Given the description of an element on the screen output the (x, y) to click on. 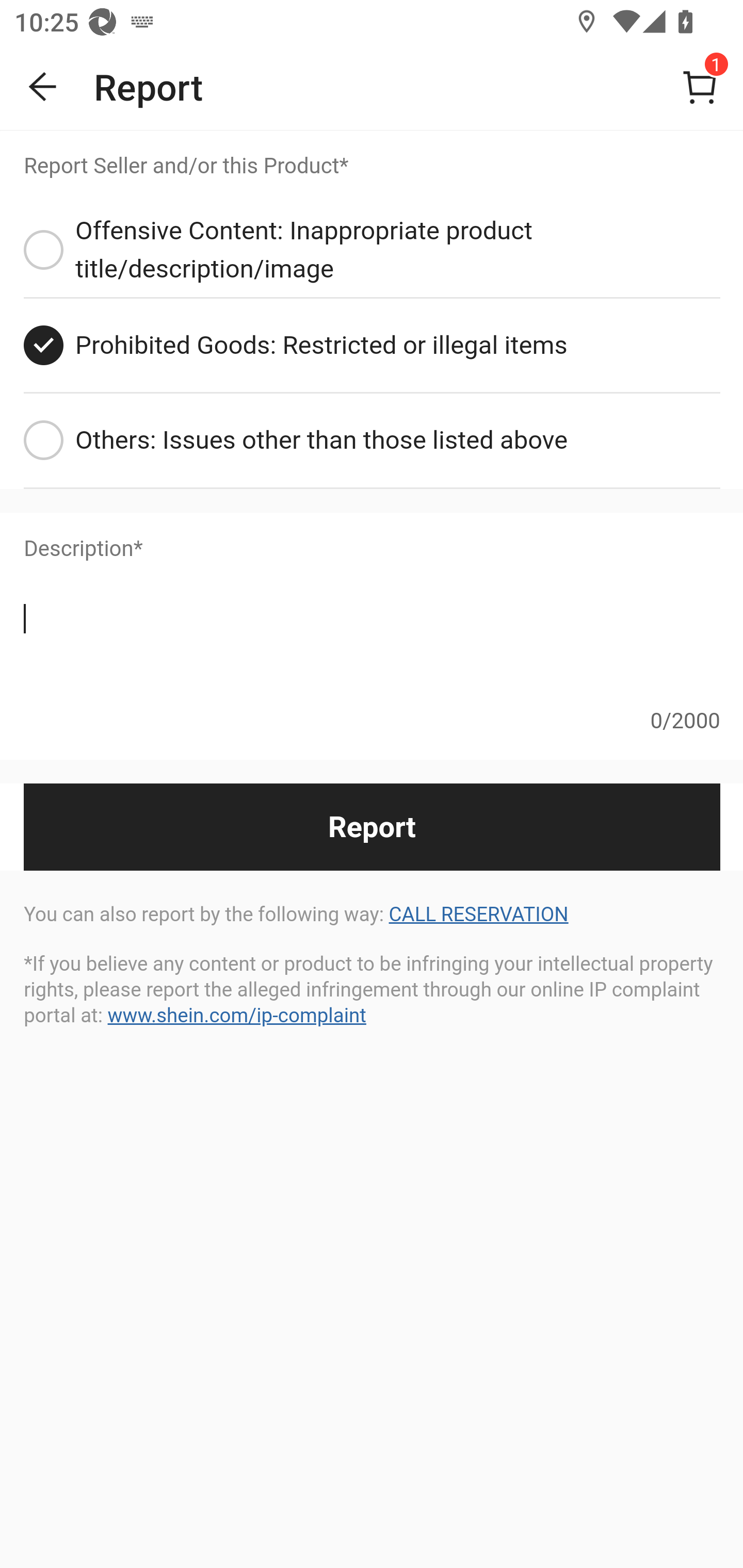
BACK (43, 86)
Cart 1 (699, 86)
 Prohibited Goods: Restricted or illegal items (371, 346)
 Others: Issues other than those listed above (371, 441)
0/2000 (371, 672)
Report (371, 825)
CALL RESERVATION (477, 915)
www.shein.com/ip-complaint (236, 1015)
